Given the description of an element on the screen output the (x, y) to click on. 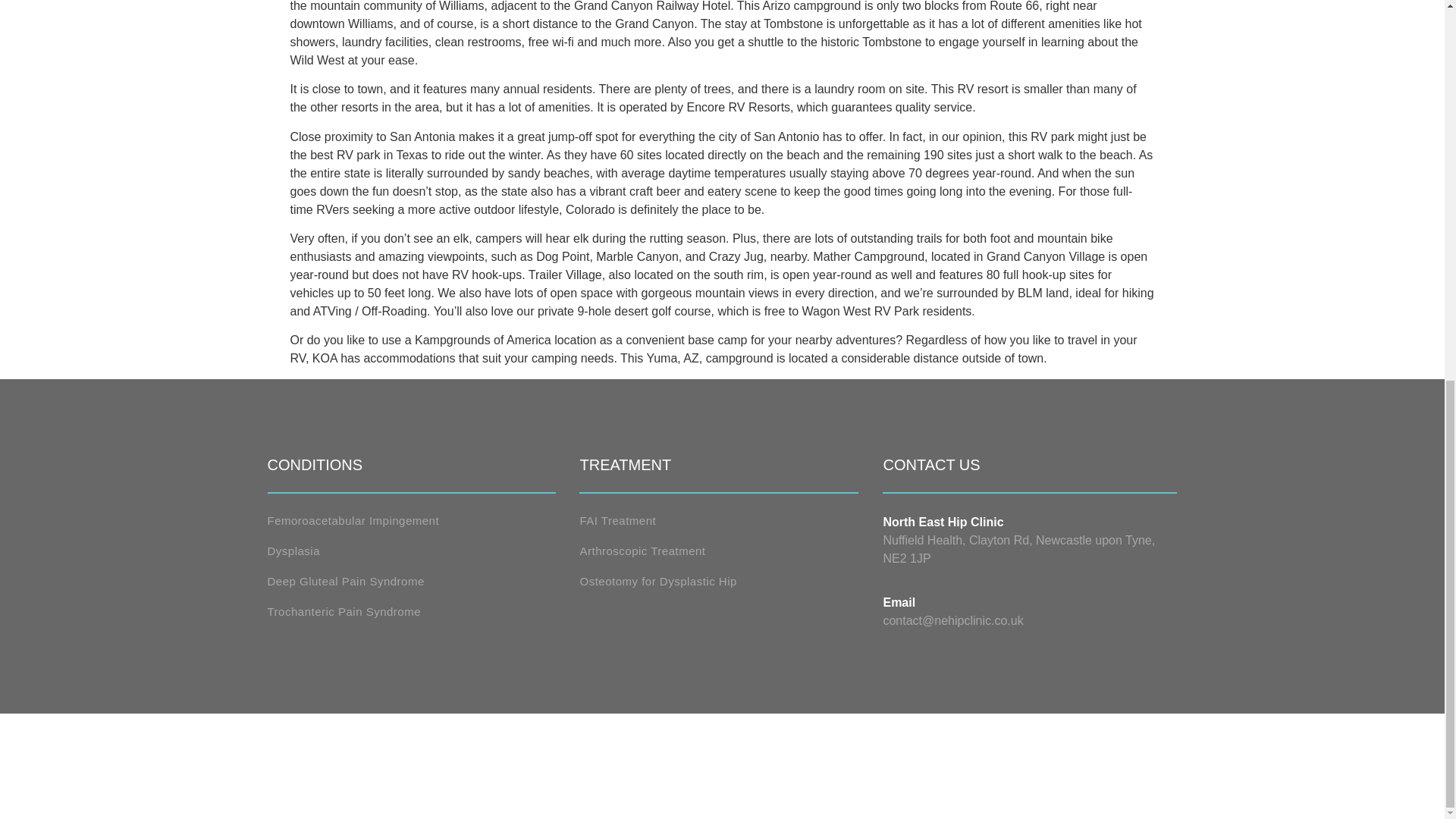
Femoroacetabular Impingement (410, 520)
Deep Gluteal Pain Syndrome (410, 581)
Trochanteric Pain Syndrome (410, 611)
Dysplasia (410, 550)
FAI Treatment (719, 520)
Arthroscopic Treatment (719, 550)
